Given the description of an element on the screen output the (x, y) to click on. 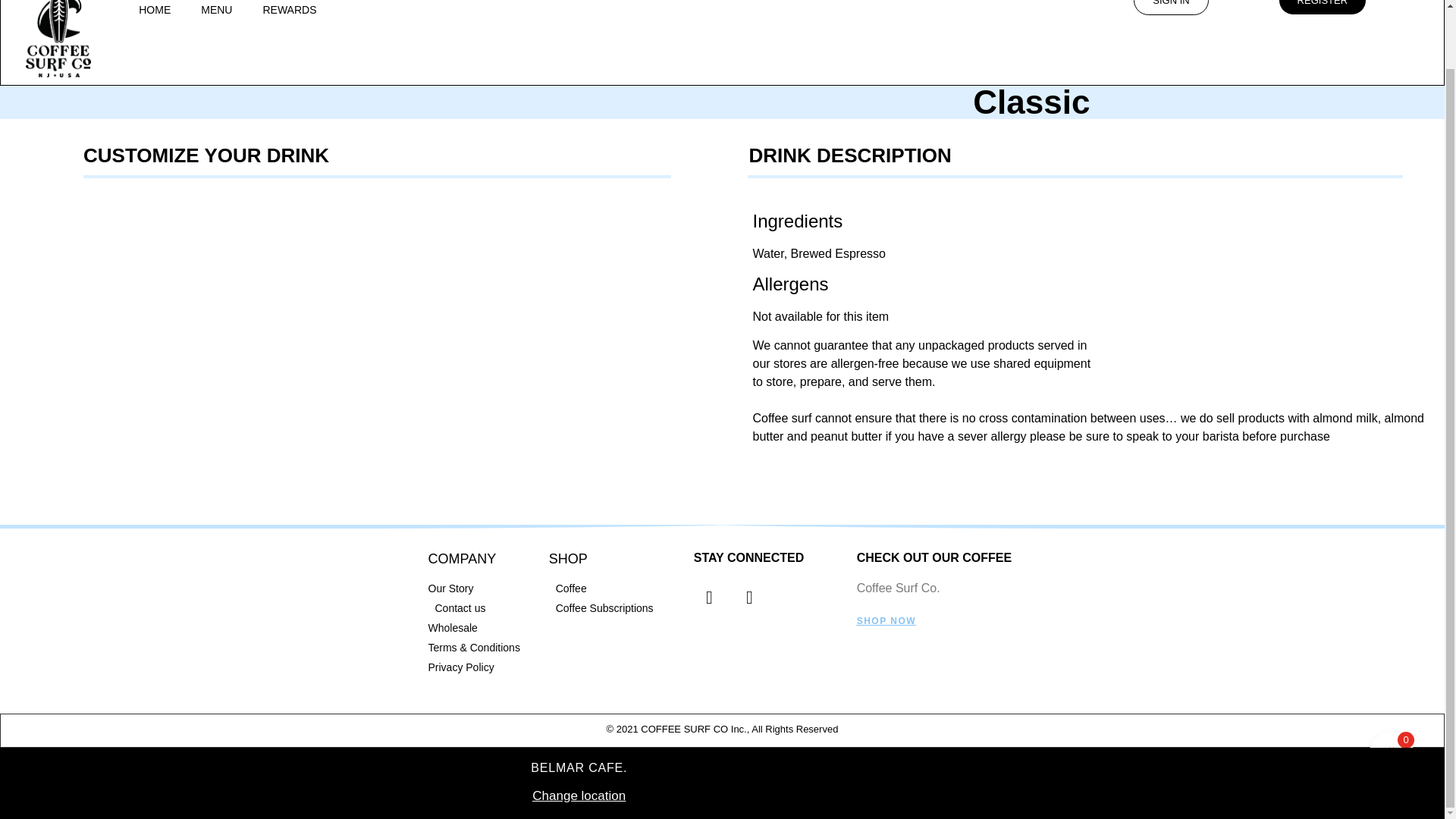
Our Story (480, 588)
MENU (216, 17)
Change location (578, 731)
Contact us (480, 608)
Coffee (613, 588)
Wholesale (480, 627)
SHOP NOW (886, 620)
Privacy Policy (480, 667)
REWARDS (289, 17)
HOME (154, 17)
Coffee Subscriptions (613, 608)
REGISTER (1322, 7)
SIGN IN (1171, 7)
